Given the description of an element on the screen output the (x, y) to click on. 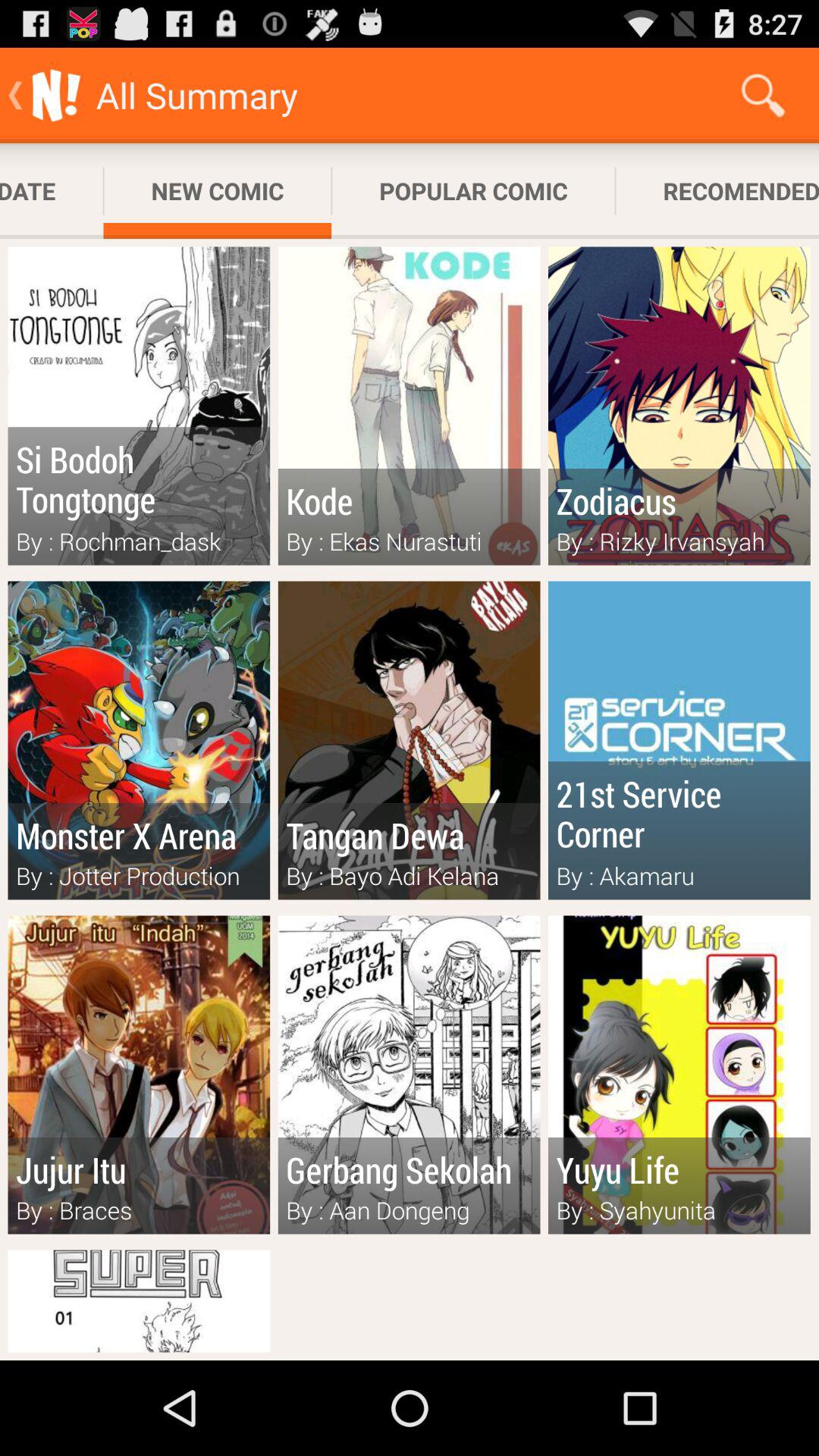
click on the image with text gerbang sekolah (409, 1074)
select new comic (217, 190)
select the second image (409, 406)
click on the book left of kode (139, 406)
